Given the description of an element on the screen output the (x, y) to click on. 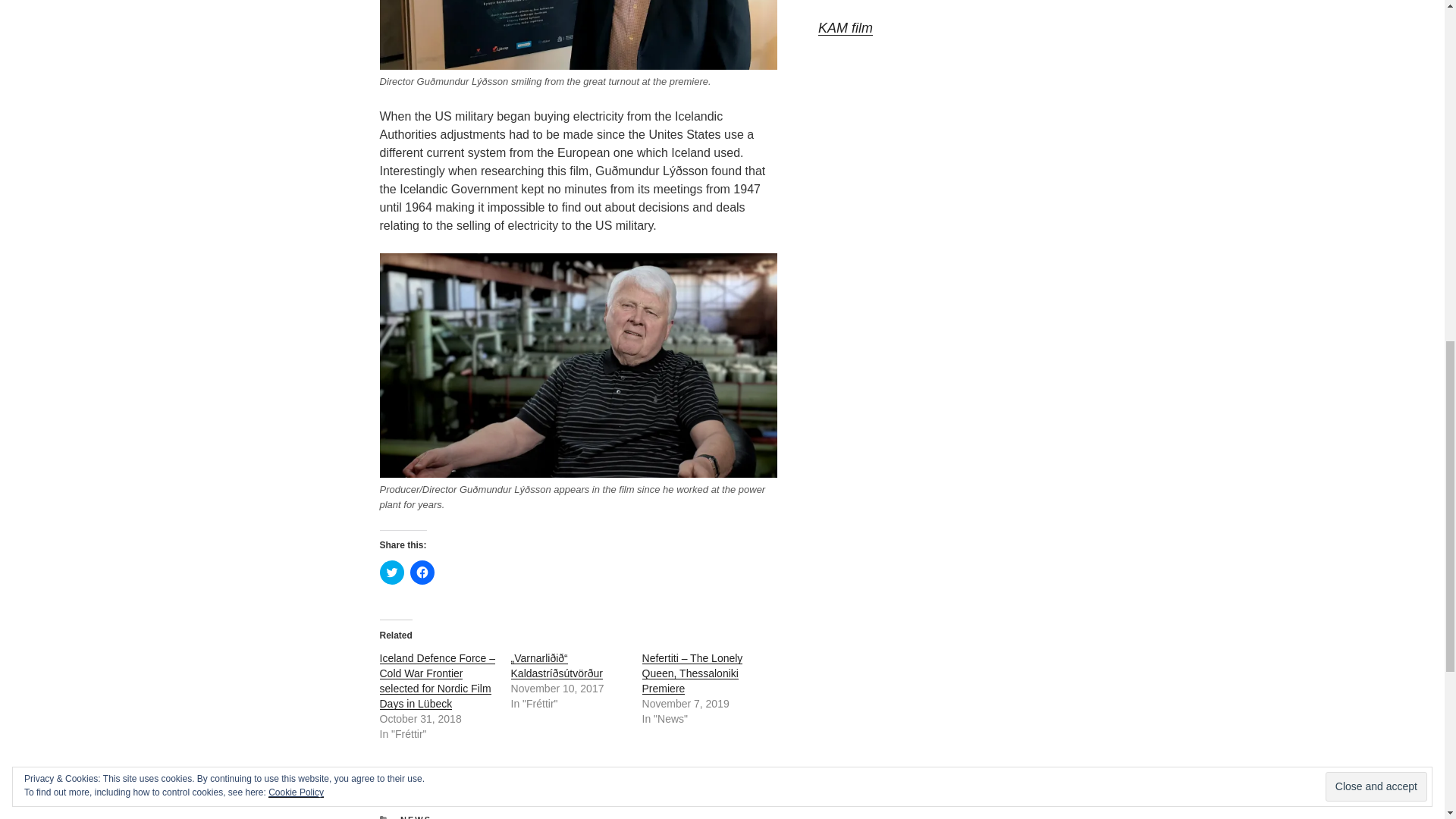
KAM film (845, 28)
NEWS (415, 816)
Click to share on Twitter (390, 572)
Click to share on Facebook (421, 572)
